Given the description of an element on the screen output the (x, y) to click on. 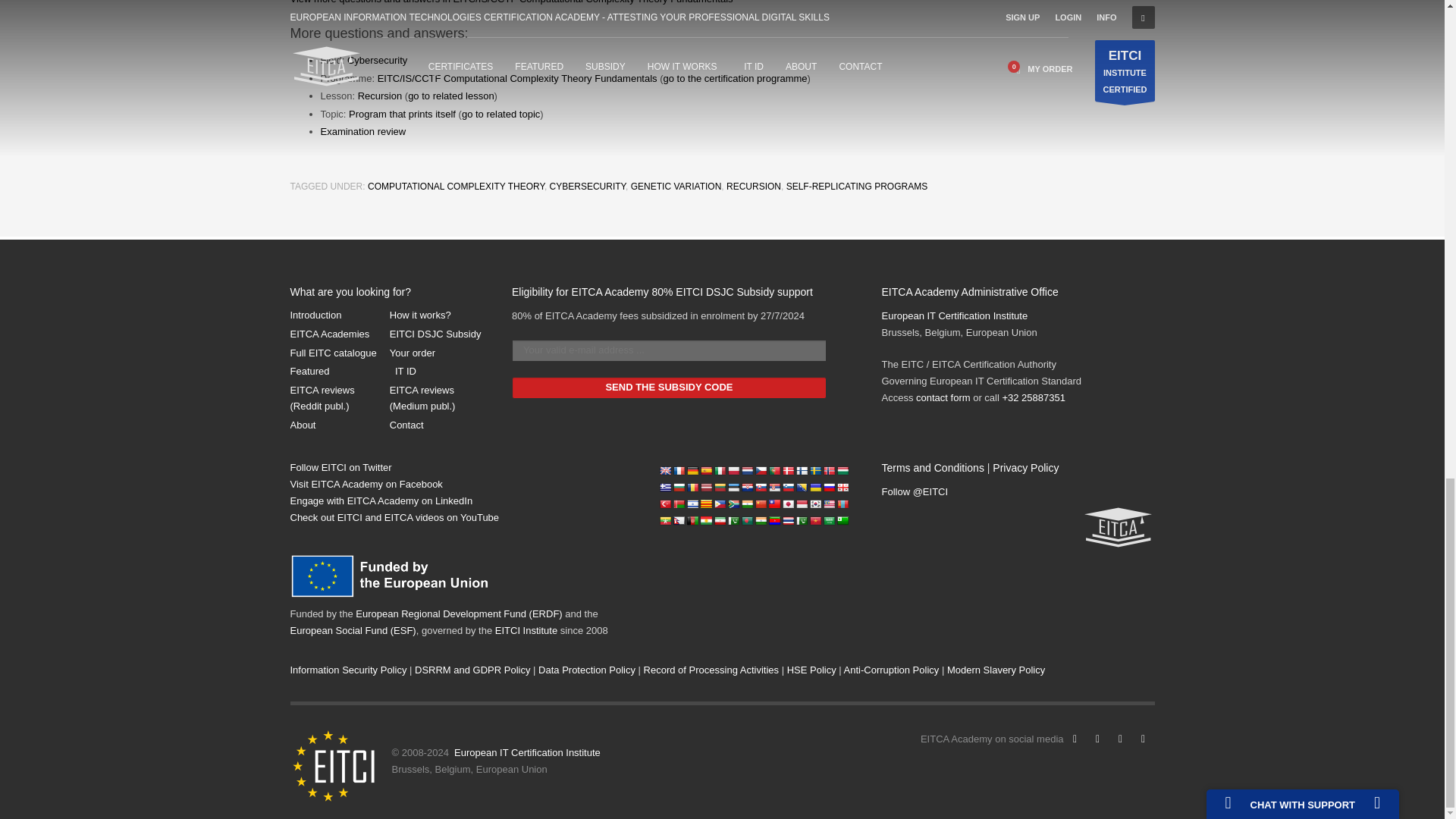
English (665, 470)
SEND THE SUBSIDY CODE (669, 387)
